Given the description of an element on the screen output the (x, y) to click on. 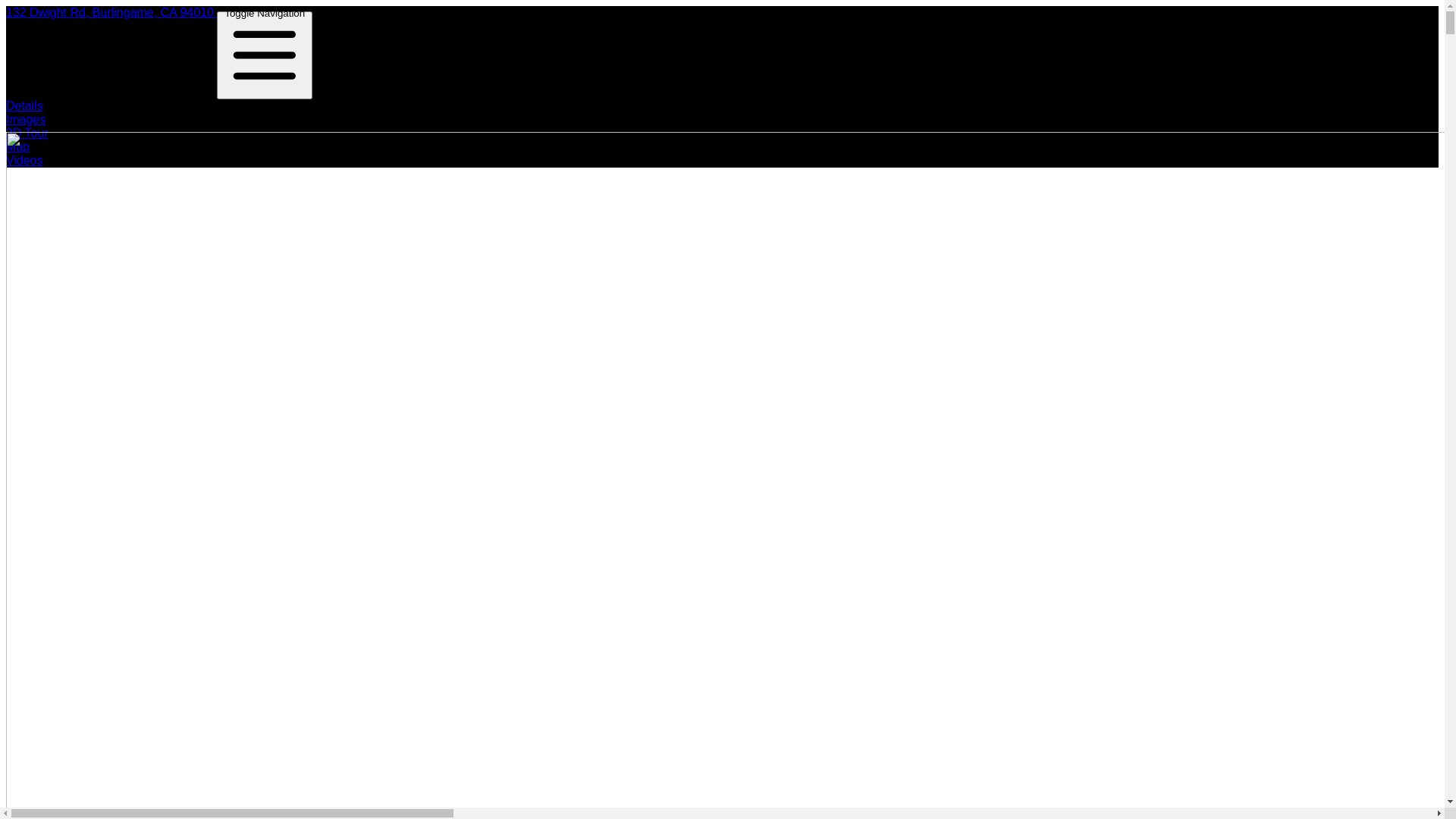
Videos Element type: text (24, 159)
3D Tour Element type: text (27, 132)
Images Element type: text (25, 118)
132 Dwight Rd, Burlingame, CA 94010 Element type: text (111, 12)
Map Element type: text (17, 146)
Details Element type: text (24, 105)
Toggle Navigation Element type: text (264, 55)
